Given the description of an element on the screen output the (x, y) to click on. 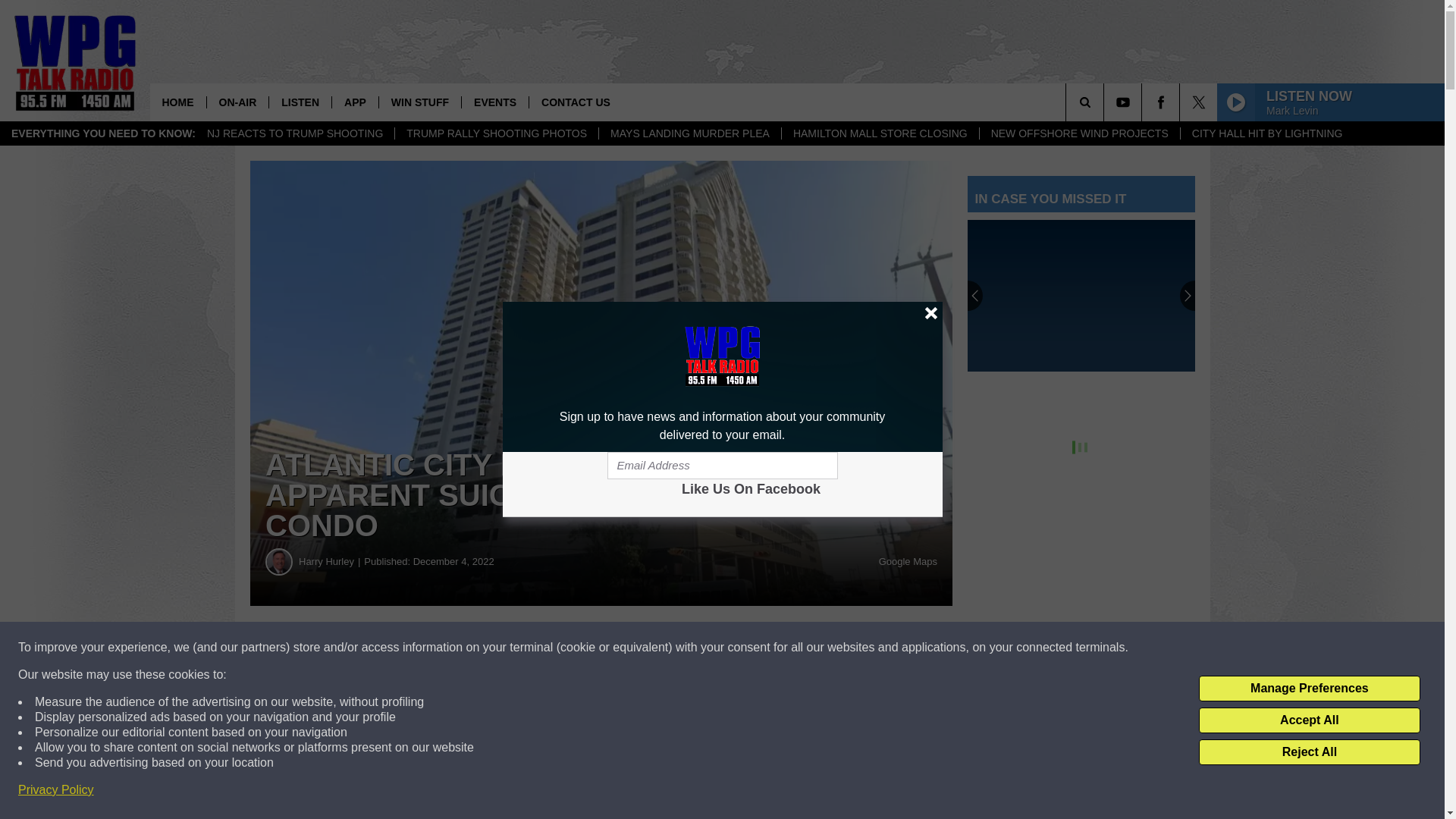
CITY HALL HIT BY LIGHTNING (1266, 133)
ON-AIR (237, 102)
APP (354, 102)
NJ REACTS TO TRUMP SHOOTING (294, 133)
SEARCH (1106, 102)
LISTEN (299, 102)
Accept All (1309, 720)
EVENTS (494, 102)
HOME (177, 102)
SEARCH (1106, 102)
NEW OFFSHORE WIND PROJECTS (1078, 133)
TRUMP RALLY SHOOTING PHOTOS (496, 133)
Privacy Policy (55, 789)
Share on Facebook (460, 647)
MAYS LANDING MURDER PLEA (689, 133)
